Given the description of an element on the screen output the (x, y) to click on. 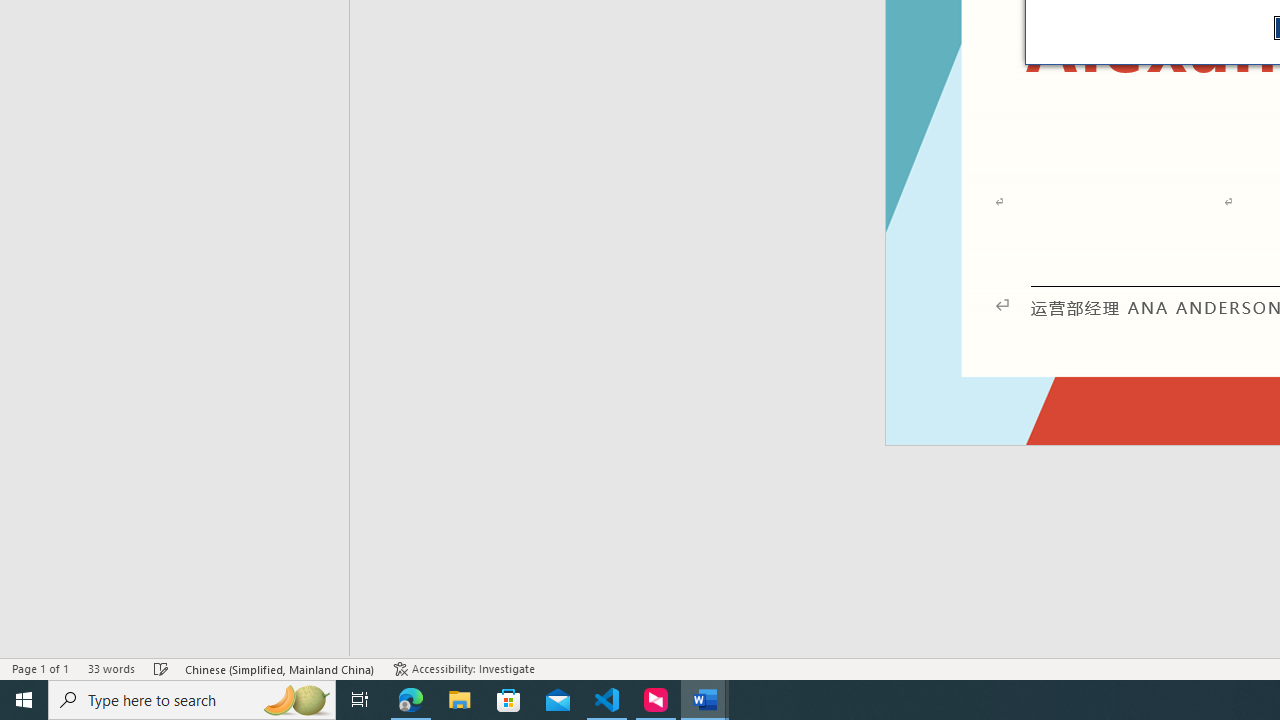
Microsoft Edge - 1 running window (411, 699)
